Given the description of an element on the screen output the (x, y) to click on. 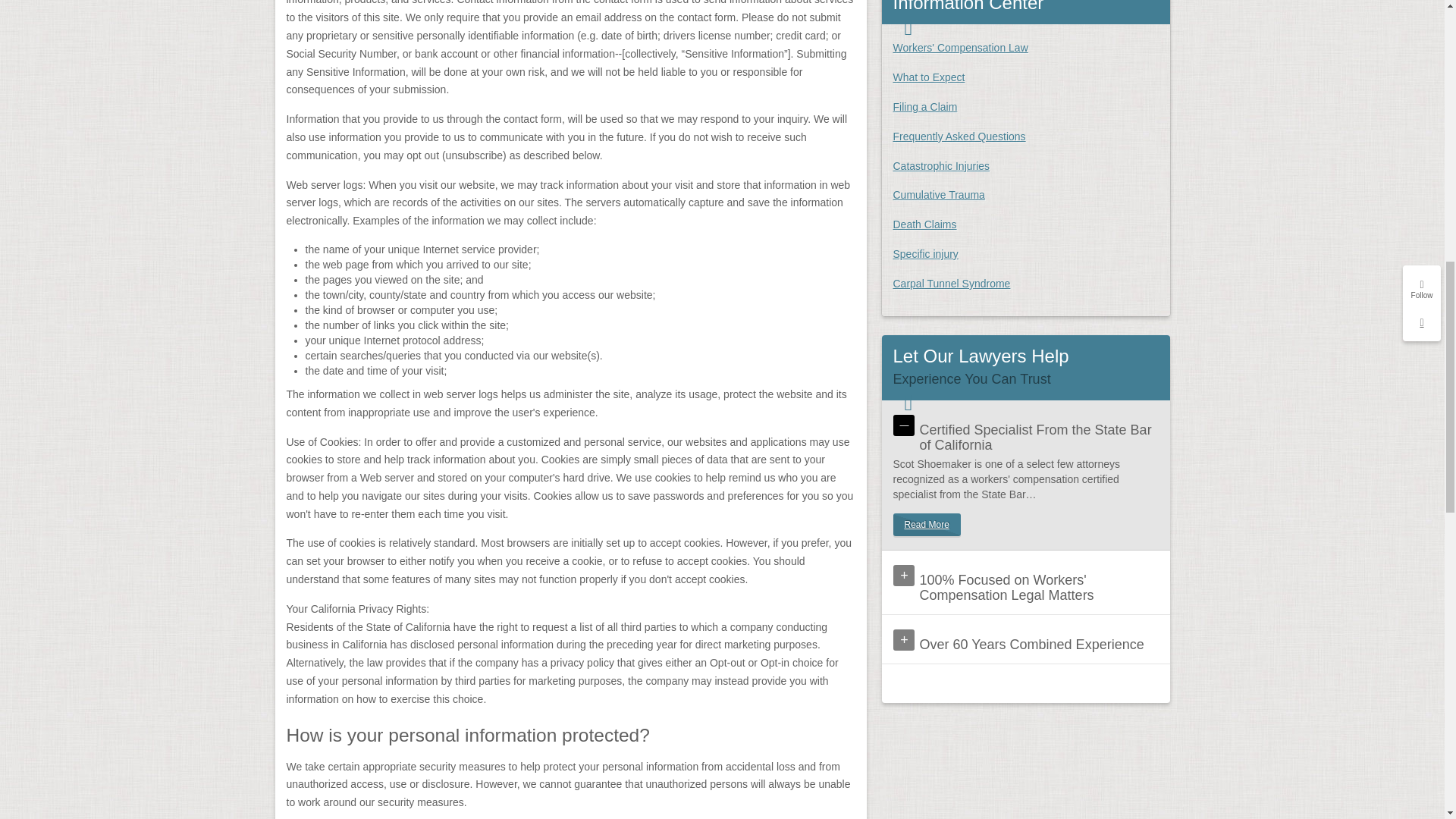
What to Expect (929, 77)
Frequently Asked Questions (959, 136)
Workers' Compensation Law (960, 47)
Specific Injury (925, 254)
Catastrophic Injuries (941, 165)
Workers' Compensation Law (960, 47)
Cumulative Trauma (939, 194)
What to Expect (929, 77)
Read More (926, 524)
Death Claims (924, 224)
Carpal Tunnel Syndrome (951, 283)
Specific injury (925, 254)
Filing a Claim (925, 106)
Filing a workers' comp claim (925, 106)
Catastrophic Injuries (941, 165)
